Given the description of an element on the screen output the (x, y) to click on. 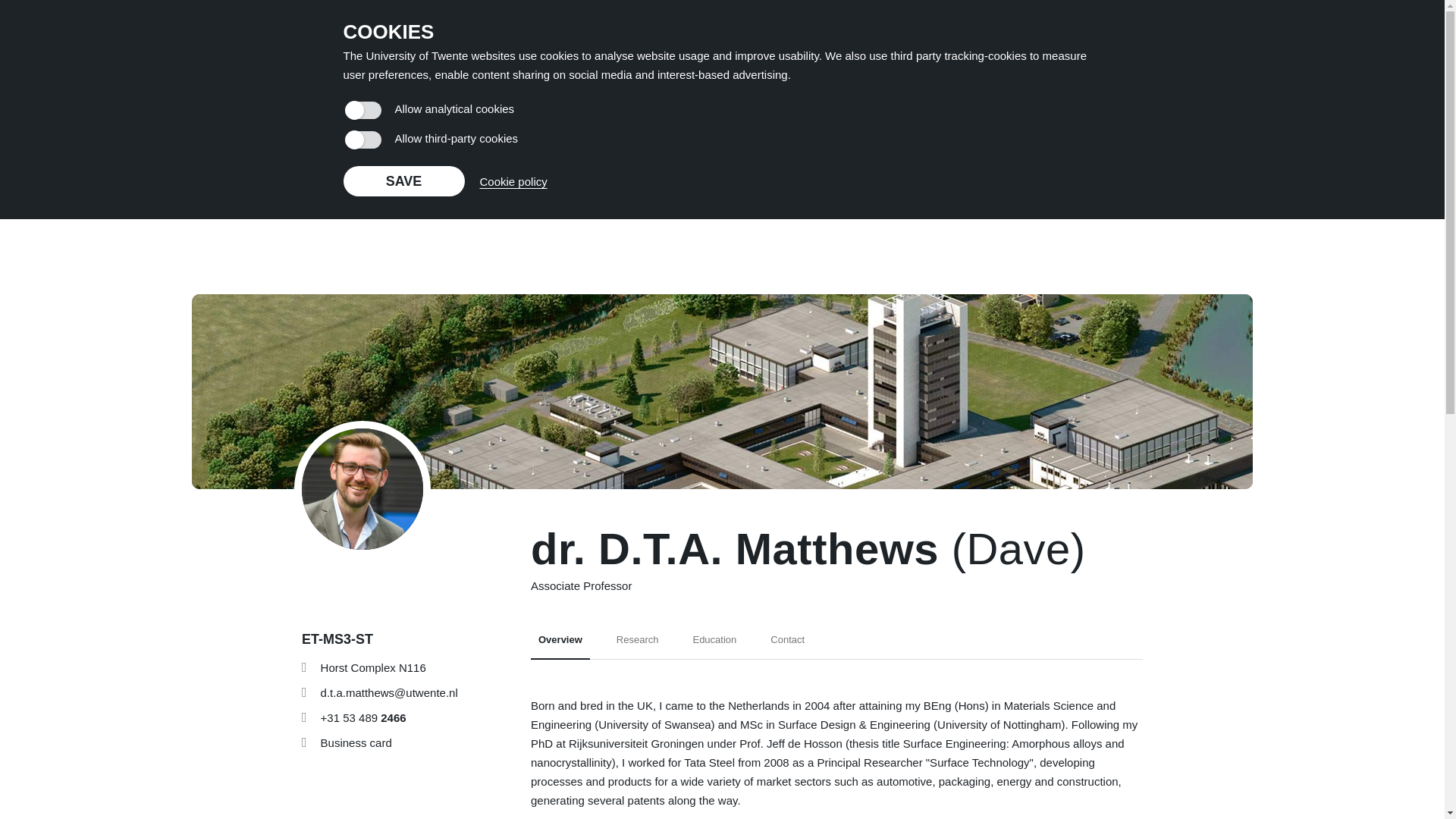
Overview (560, 644)
EN (1229, 39)
on (363, 139)
Contact (787, 644)
Business card (355, 742)
Cookie policy (513, 180)
SAVE (337, 39)
Education (403, 181)
Research (714, 644)
on (637, 644)
